Given the description of an element on the screen output the (x, y) to click on. 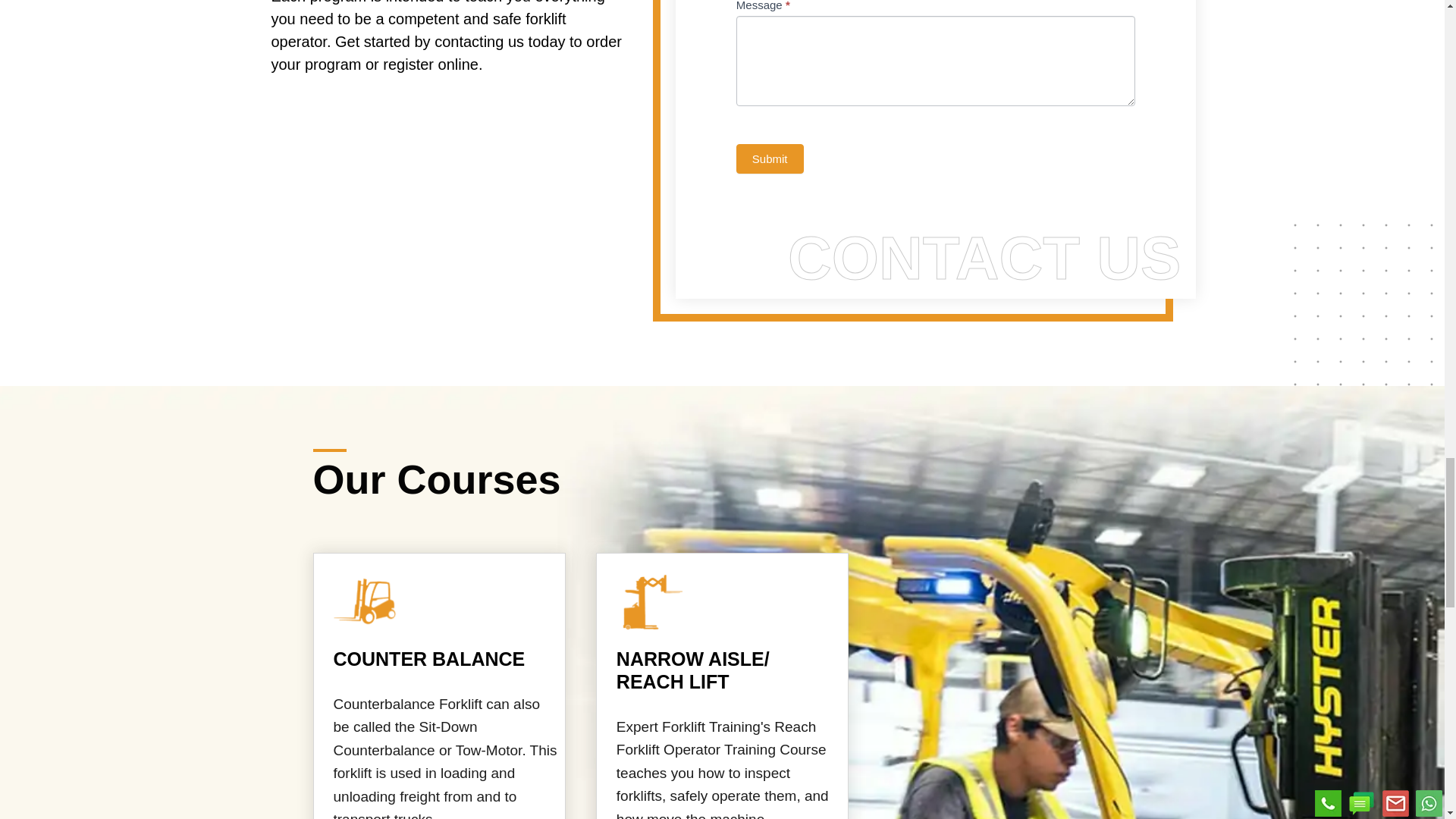
Submit (769, 158)
